Given the description of an element on the screen output the (x, y) to click on. 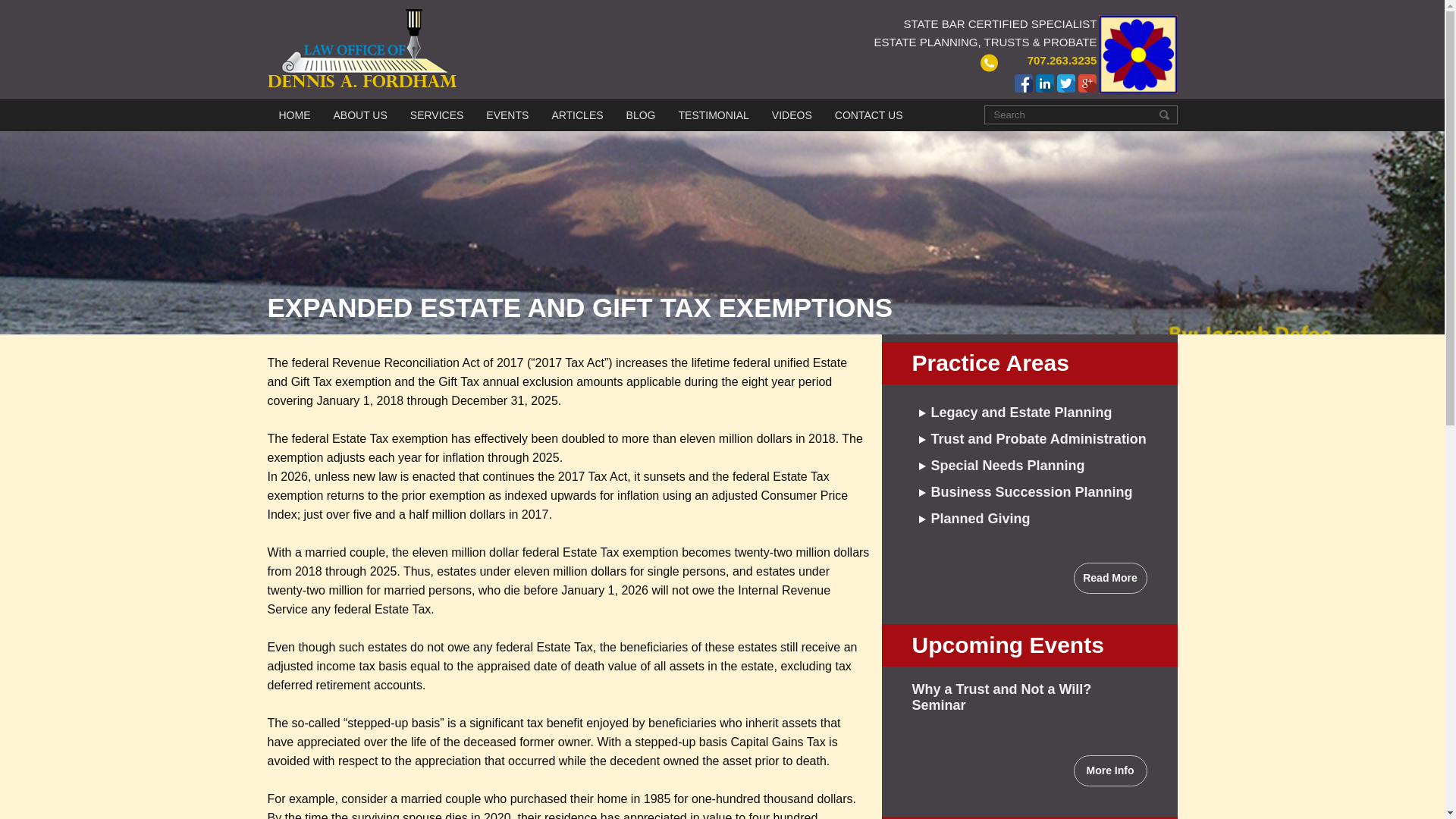
VIDEOS (791, 115)
BLOG (641, 115)
HOME (295, 115)
CONTACT US (868, 115)
Twitter (1066, 83)
ARTICLES (576, 115)
More Info (1110, 770)
EVENTS (507, 115)
Read More (1110, 577)
TESTIMONIAL (713, 115)
